Given the description of an element on the screen output the (x, y) to click on. 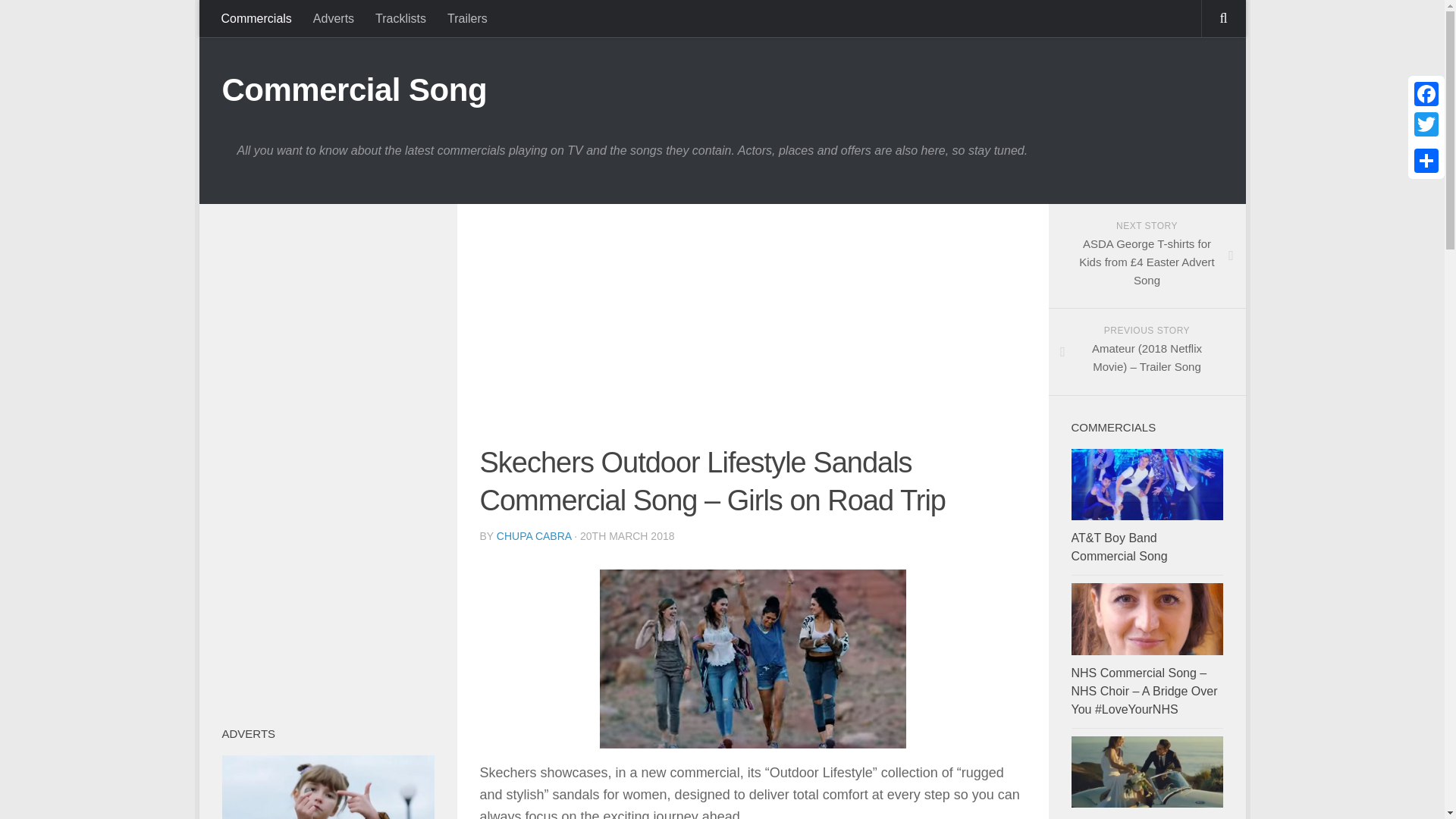
Commercial Song (353, 90)
Adverts (333, 18)
Advertisement (752, 332)
Trailers (466, 18)
Tracklists (400, 18)
CHUPA CABRA (534, 535)
Commercials (256, 18)
Posts by Chupa Cabra (534, 535)
